Given the description of an element on the screen output the (x, y) to click on. 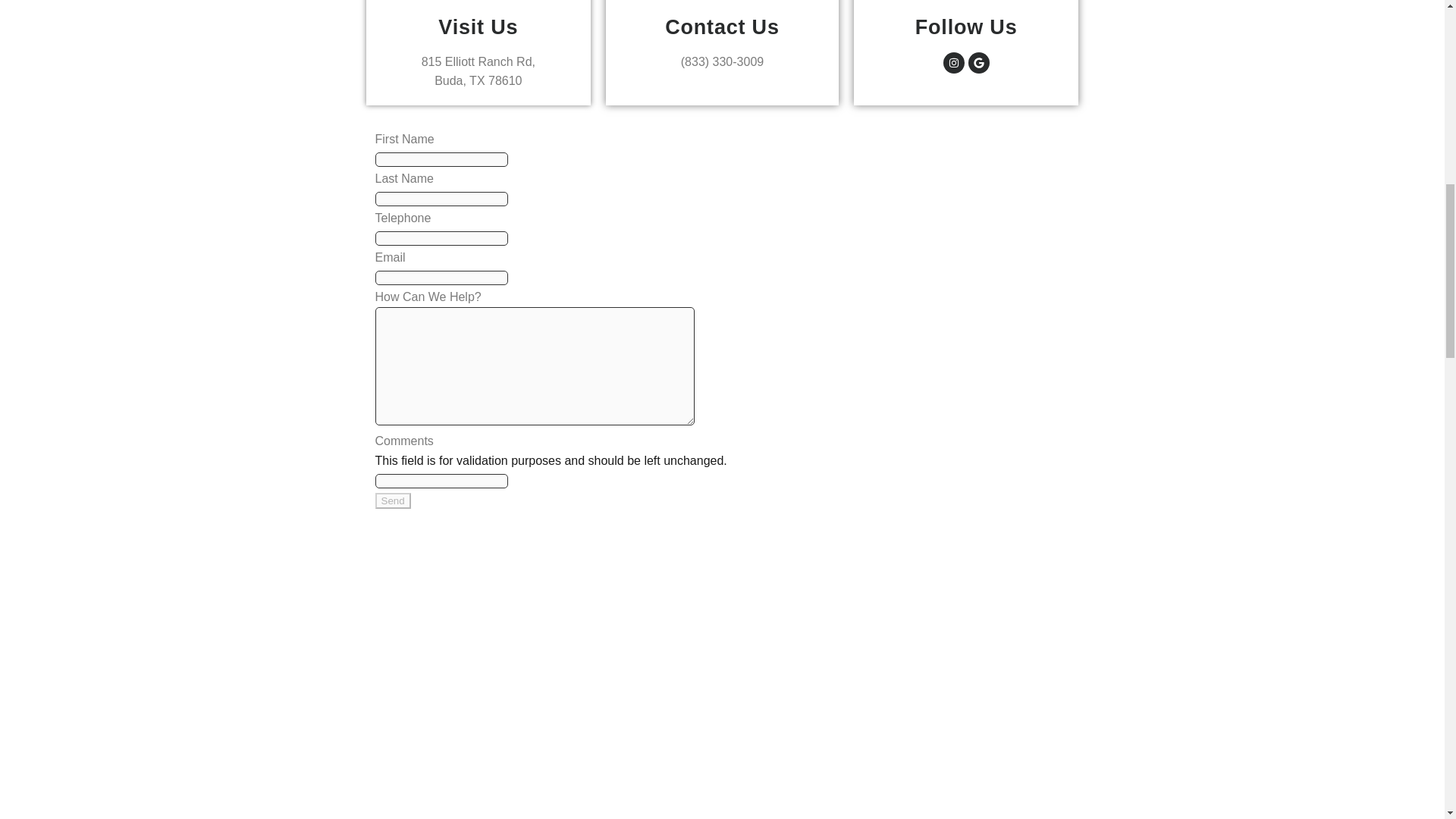
Send (392, 500)
